Given the description of an element on the screen output the (x, y) to click on. 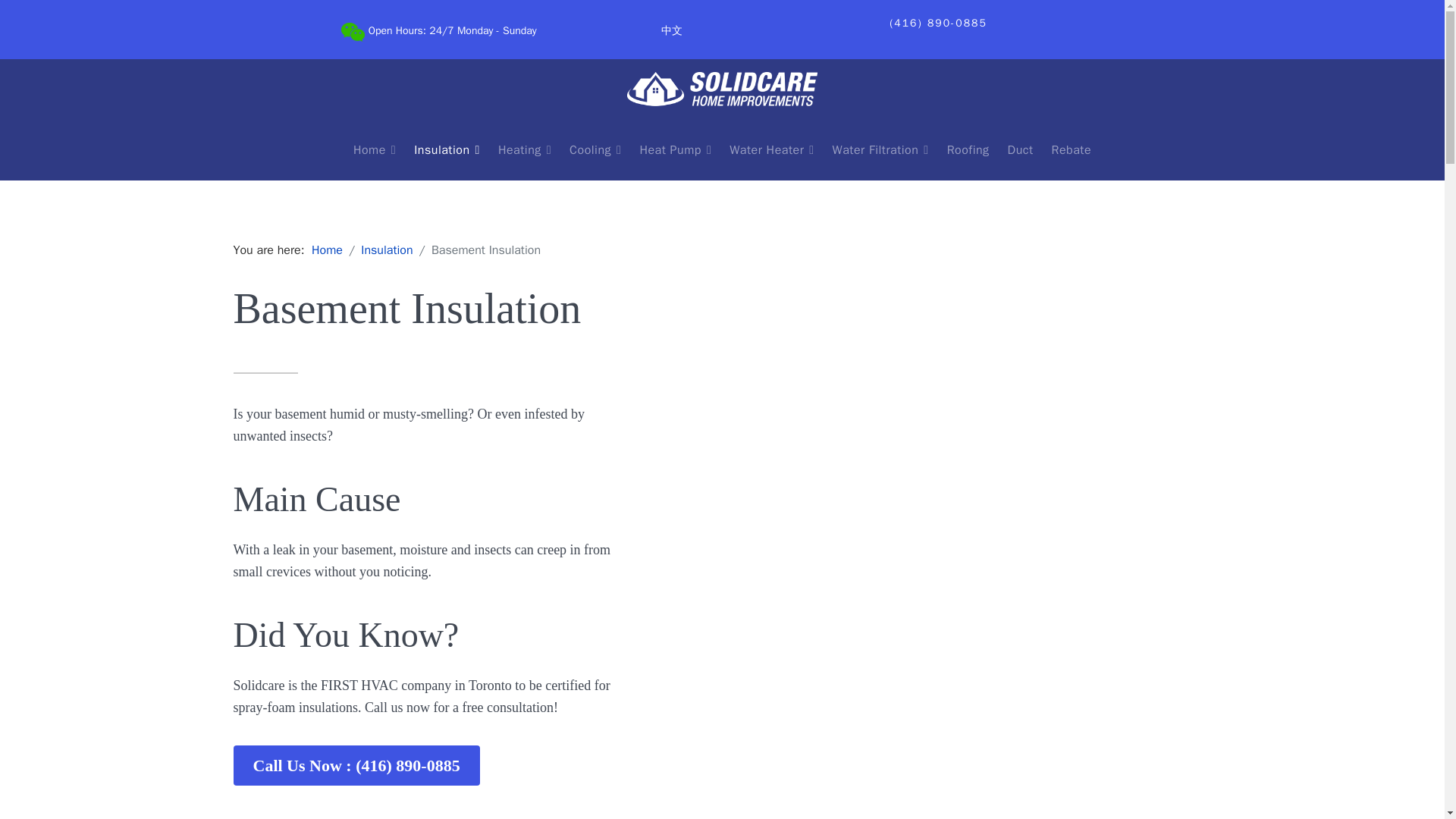
Heat Pump (675, 149)
Free Quote (721, 210)
Water Heater (771, 149)
Insulation (386, 249)
Home (326, 249)
Insulation (446, 149)
Water Filtration (880, 149)
